Given the description of an element on the screen output the (x, y) to click on. 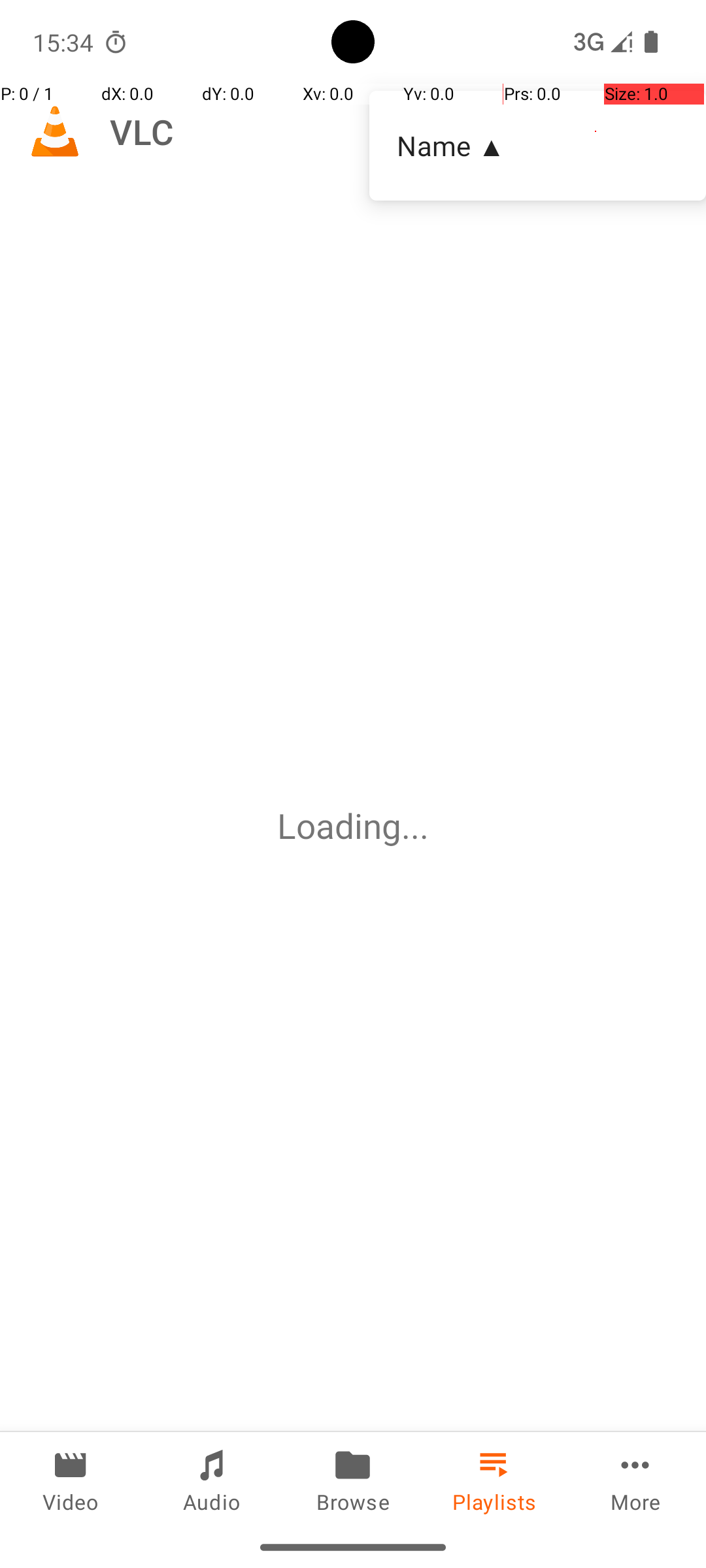
Name. Ascending Element type: android.widget.LinearLayout (537, 145)
Name ▲ Element type: android.widget.TextView (537, 145)
